Given the description of an element on the screen output the (x, y) to click on. 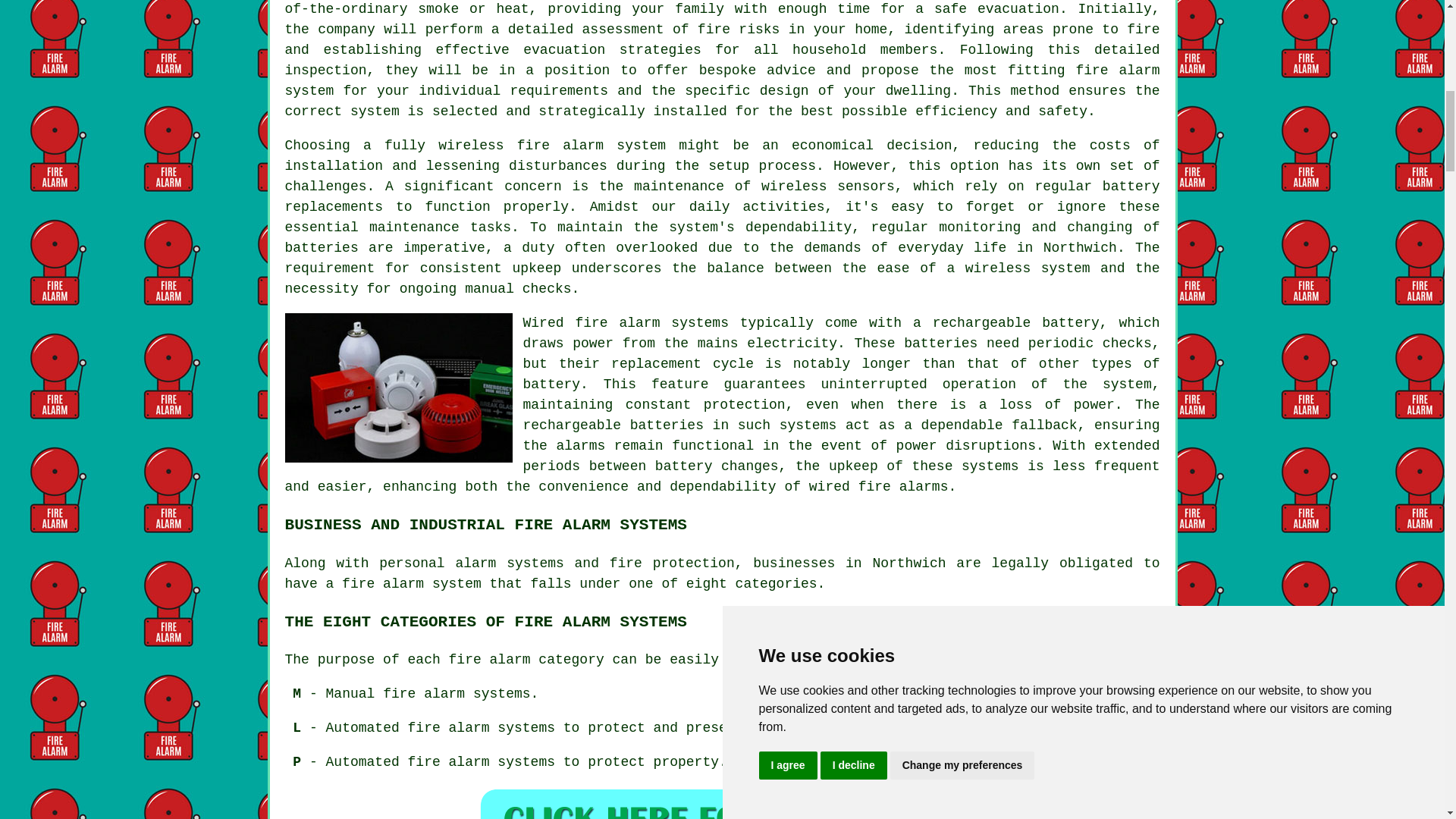
installation (334, 165)
fire alarms (904, 486)
Fire Alarm Installation Quotes in Northwich Cheshire (722, 802)
